Given the description of an element on the screen output the (x, y) to click on. 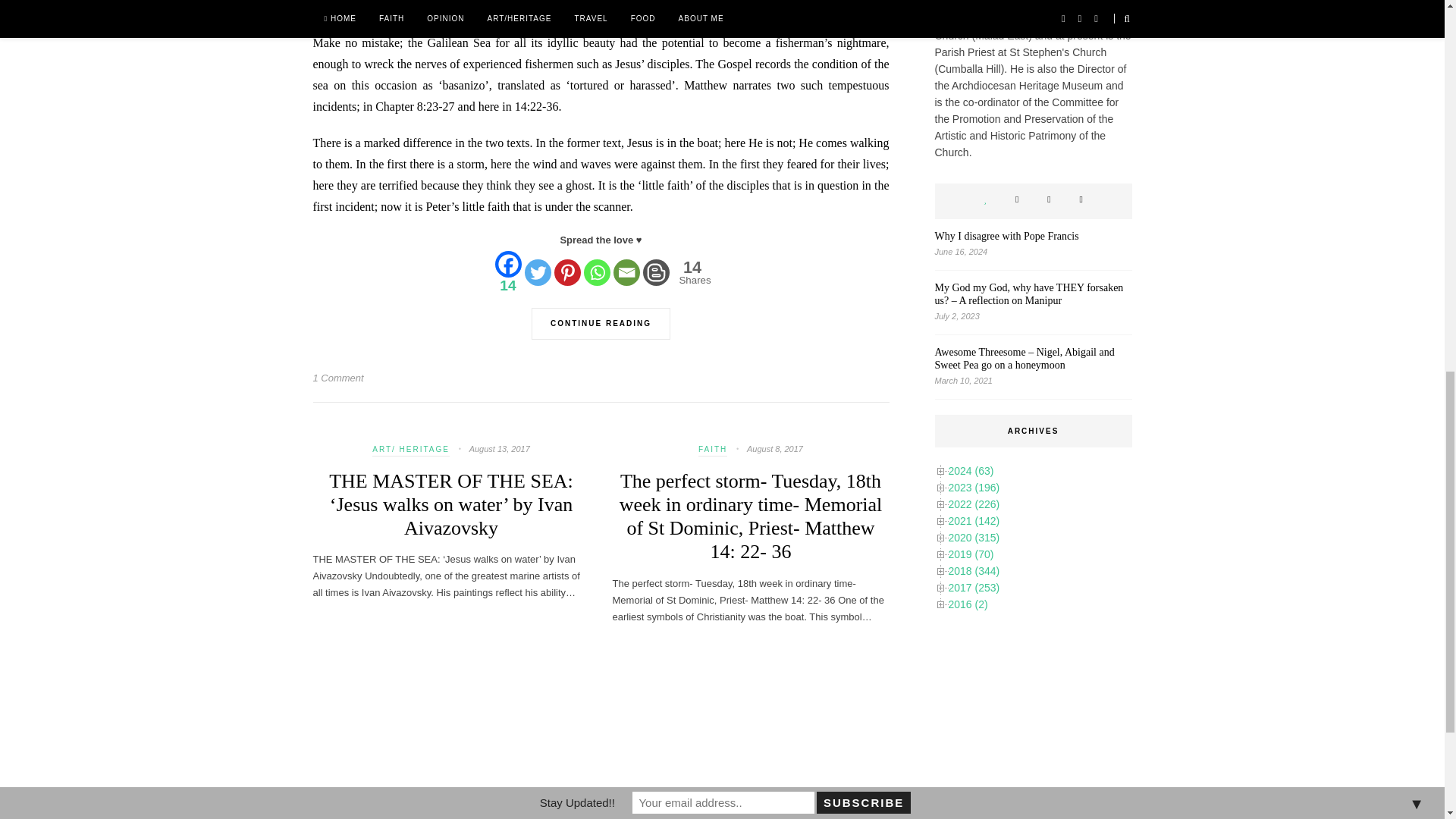
Pinterest (566, 272)
Blogger Post (656, 272)
Facebook (508, 272)
1 Comment (337, 378)
Total Shares (688, 272)
Tags (692, 272)
Whatsapp (1081, 199)
Popular (596, 272)
CONTINUE READING (984, 199)
Comments (600, 317)
Email (1048, 199)
Latest (625, 272)
Twitter (1016, 199)
